Given the description of an element on the screen output the (x, y) to click on. 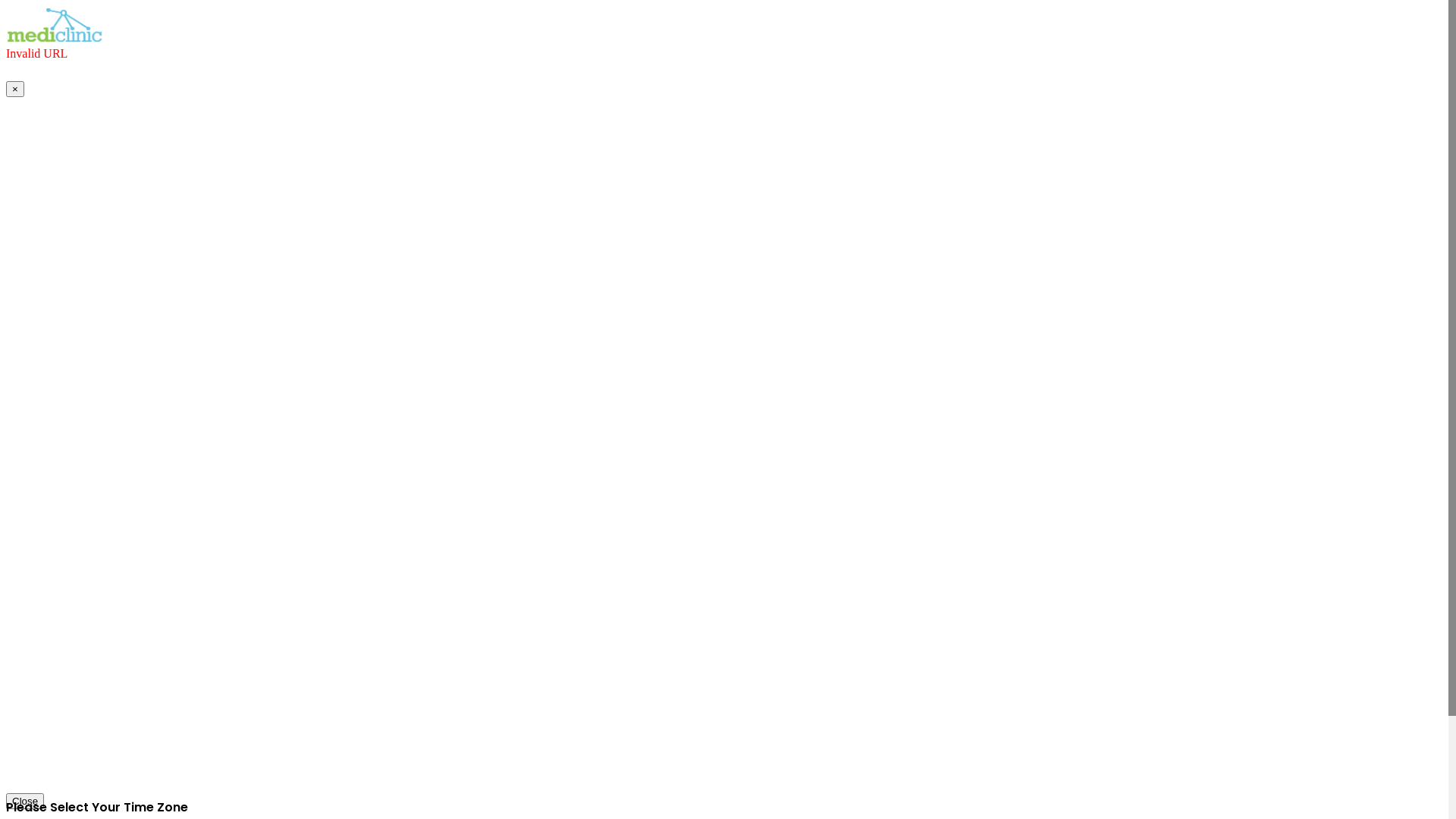
Close Element type: text (24, 801)
